Given the description of an element on the screen output the (x, y) to click on. 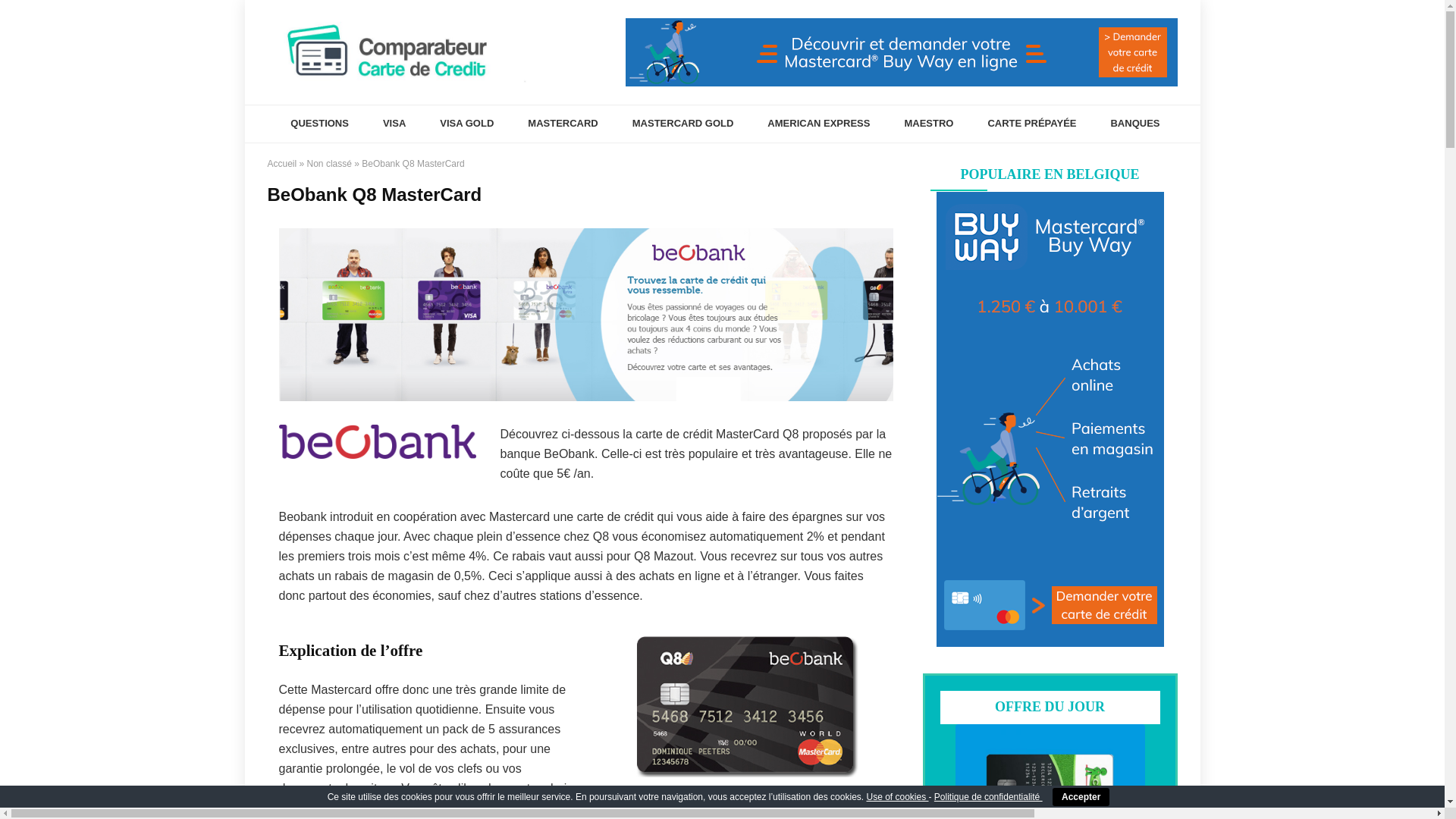
MASTERCARD Element type: text (562, 123)
QUESTIONS Element type: text (319, 123)
AMERICAN EXPRESS Element type: text (817, 123)
VISA GOLD Element type: text (466, 123)
BANQUES Element type: text (1134, 123)
Use of cookies Element type: text (897, 796)
MAESTRO Element type: text (927, 123)
Accueil Element type: text (281, 163)
VISA Element type: text (393, 123)
Accepter Element type: text (1080, 796)
MASTERCARD GOLD Element type: text (682, 123)
